Given the description of an element on the screen output the (x, y) to click on. 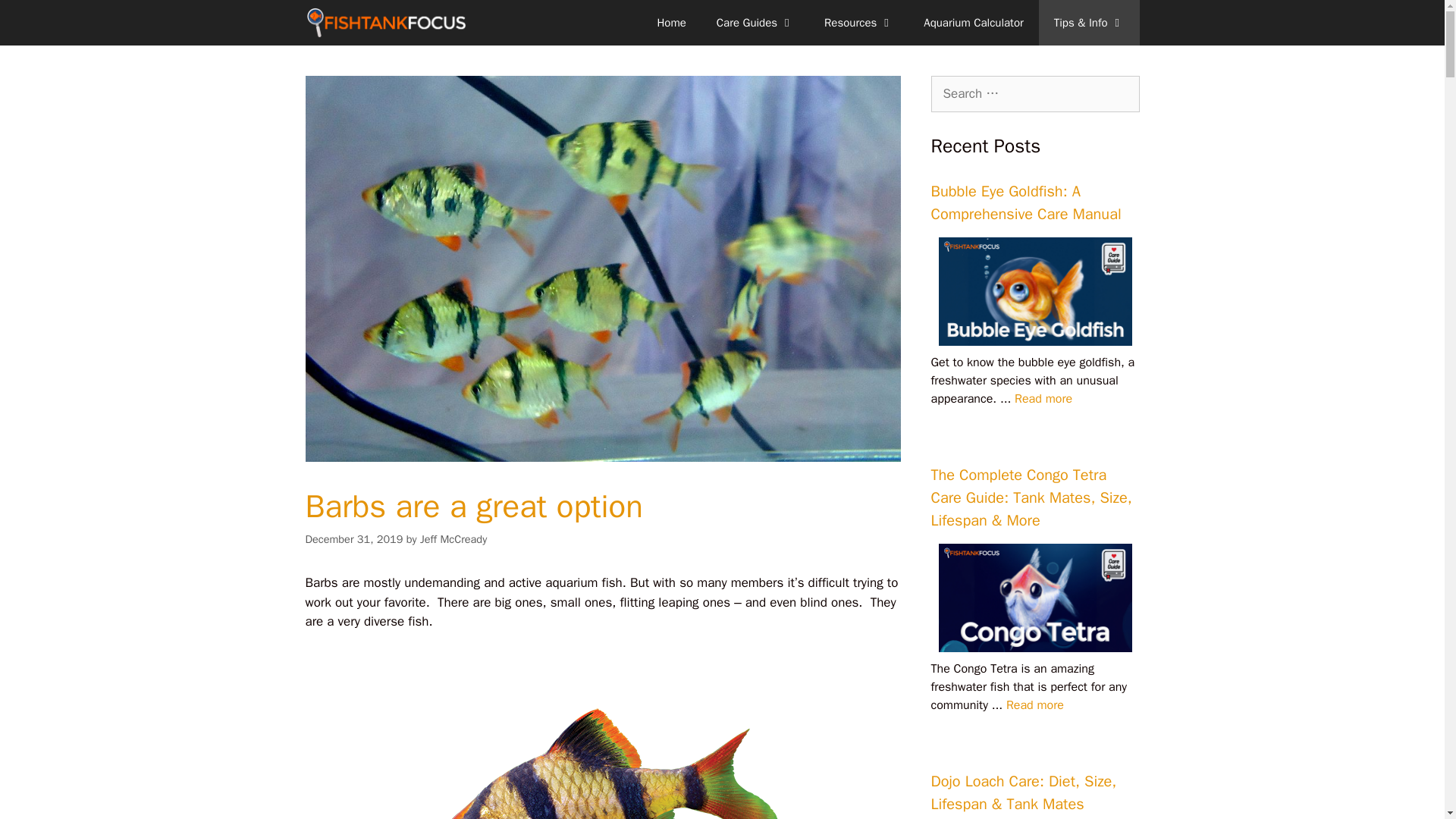
View all posts by Jeff McCready (453, 539)
Search for: (1035, 94)
Bubble Eye Goldfish: A Comprehensive Care Manual (1042, 398)
